Given the description of an element on the screen output the (x, y) to click on. 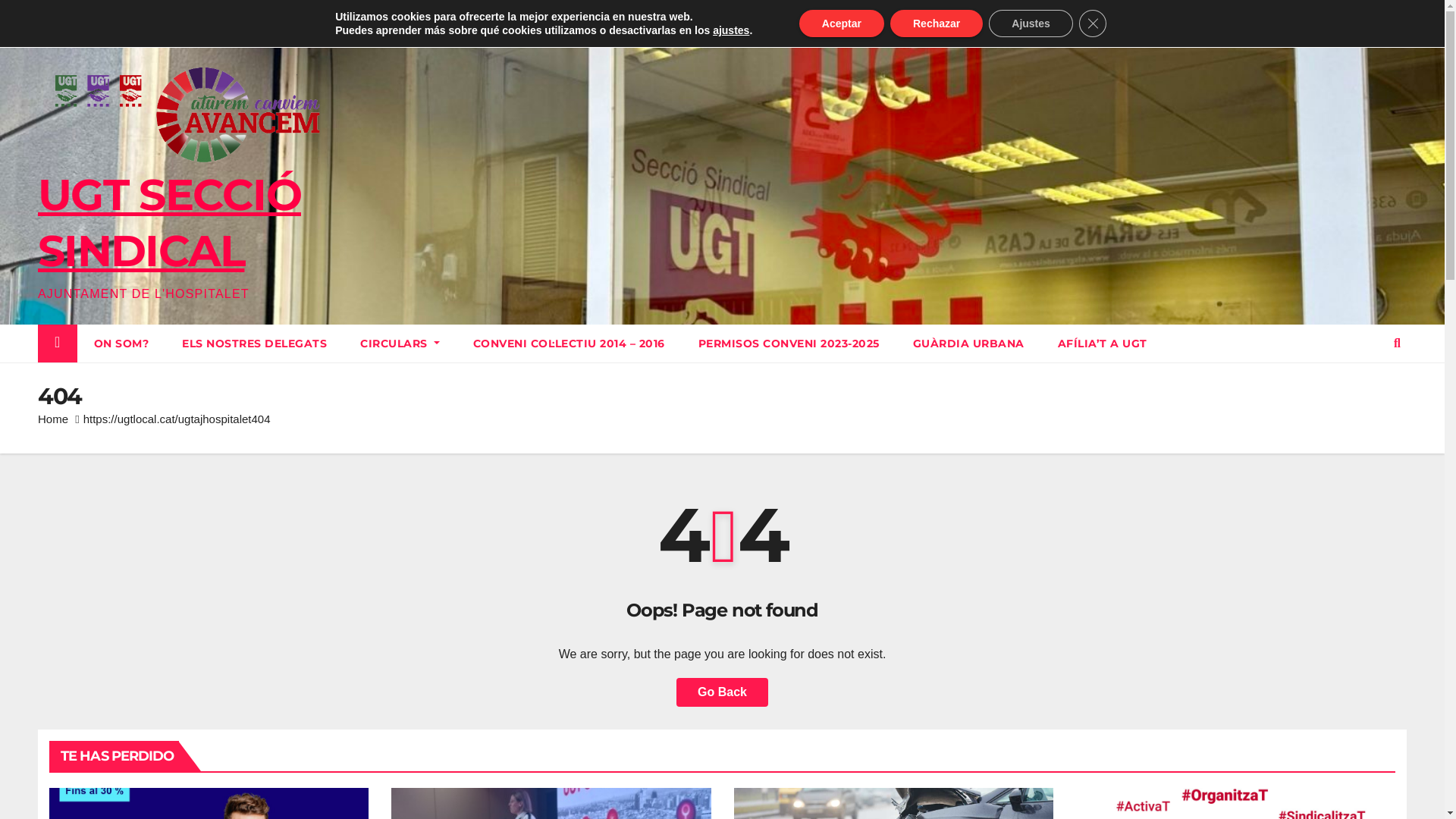
Rechazar Element type: text (936, 23)
CIRCULARS Element type: text (399, 343)
ELS NOSTRES DELEGATS Element type: text (254, 343)
Home Element type: text (52, 418)
ON SOM? Element type: text (121, 343)
ajustes Element type: text (730, 30)
Go Back Element type: text (722, 691)
Aceptar Element type: text (841, 23)
Ajustes Element type: text (1030, 23)
PERMISOS CONVENI 2023-2025 Element type: text (788, 343)
